Given the description of an element on the screen output the (x, y) to click on. 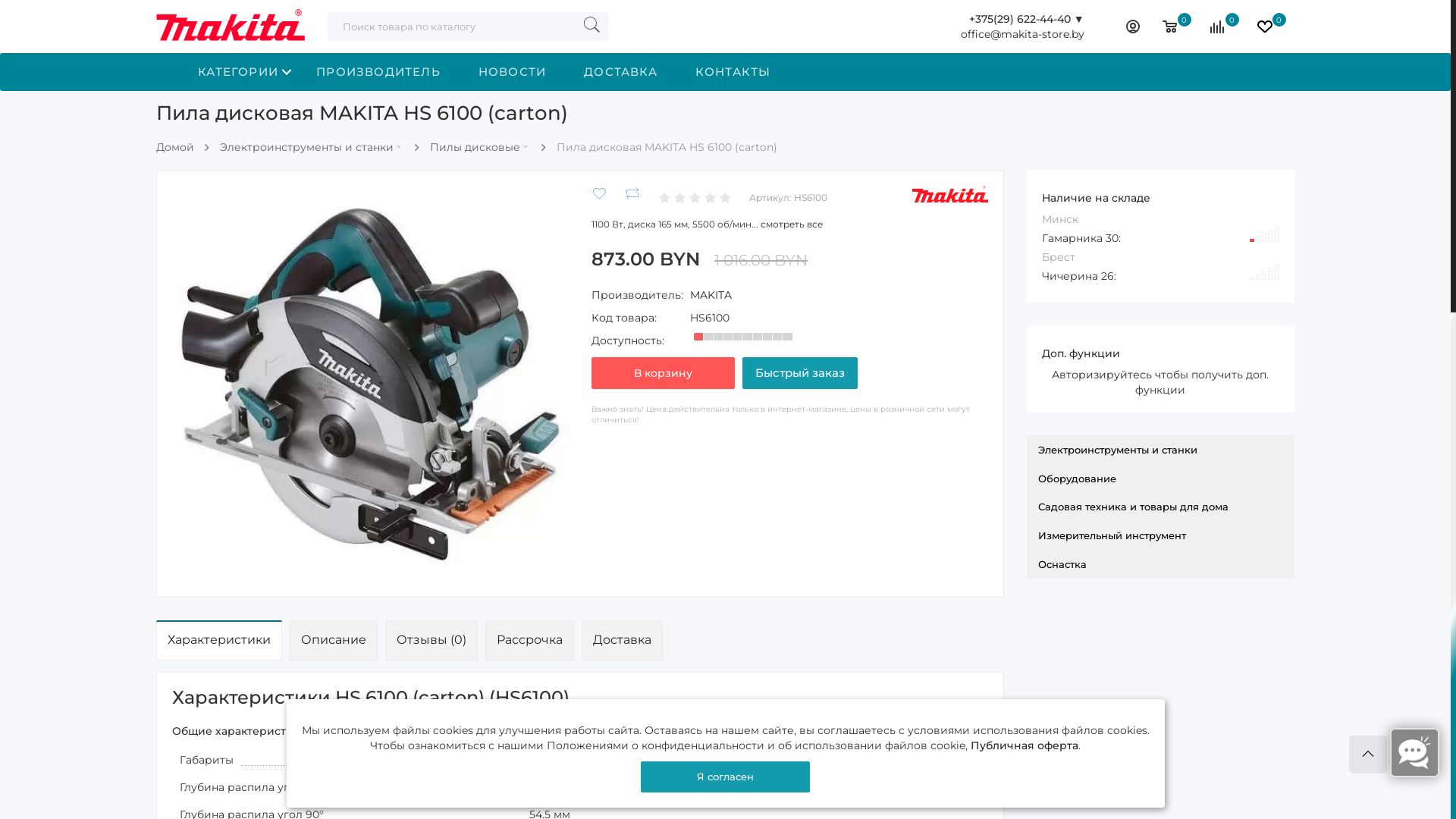
MAKITA-STORE.by Element type: hover (230, 26)
0 Element type: text (1221, 26)
office@makita-store.by Element type: text (1022, 33)
0 Element type: text (1174, 26)
MAKITA Element type: text (710, 294)
0 Element type: text (1269, 26)
